Given the description of an element on the screen output the (x, y) to click on. 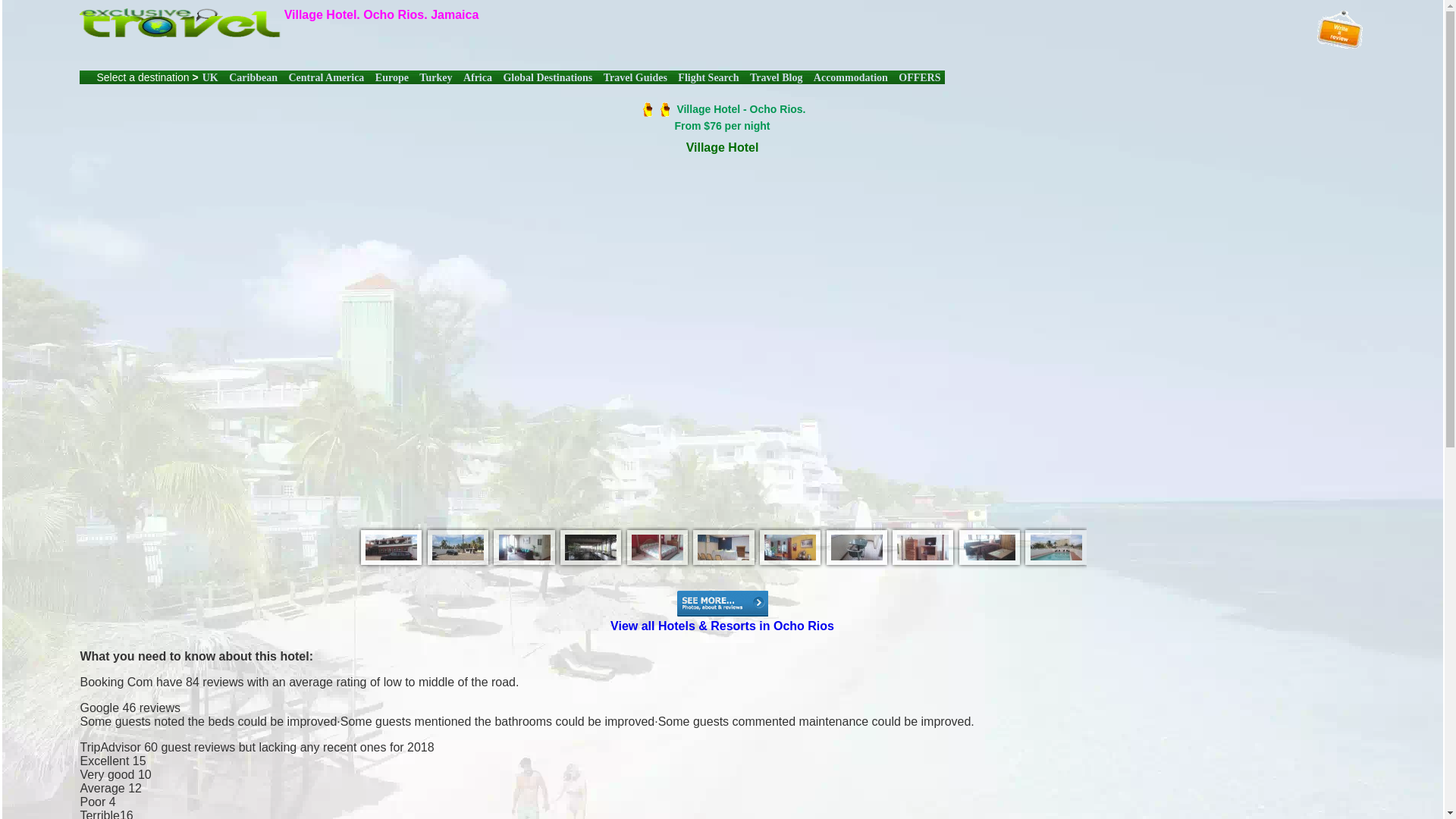
Global Destinations (547, 77)
village hotel building (391, 547)
village hotel communial area (523, 547)
Find great travel advice and tips in our travel blog (775, 77)
holiday accommodation world wide (850, 77)
Exploring Turkey guides and Exclusive 5 star holiday resorts (435, 77)
Turkey (435, 77)
village hotel dining (590, 547)
Flight Search (708, 77)
UK (210, 77)
village hotel car park (457, 547)
OFFERS (919, 77)
village hotel meetings room (723, 547)
